Given the description of an element on the screen output the (x, y) to click on. 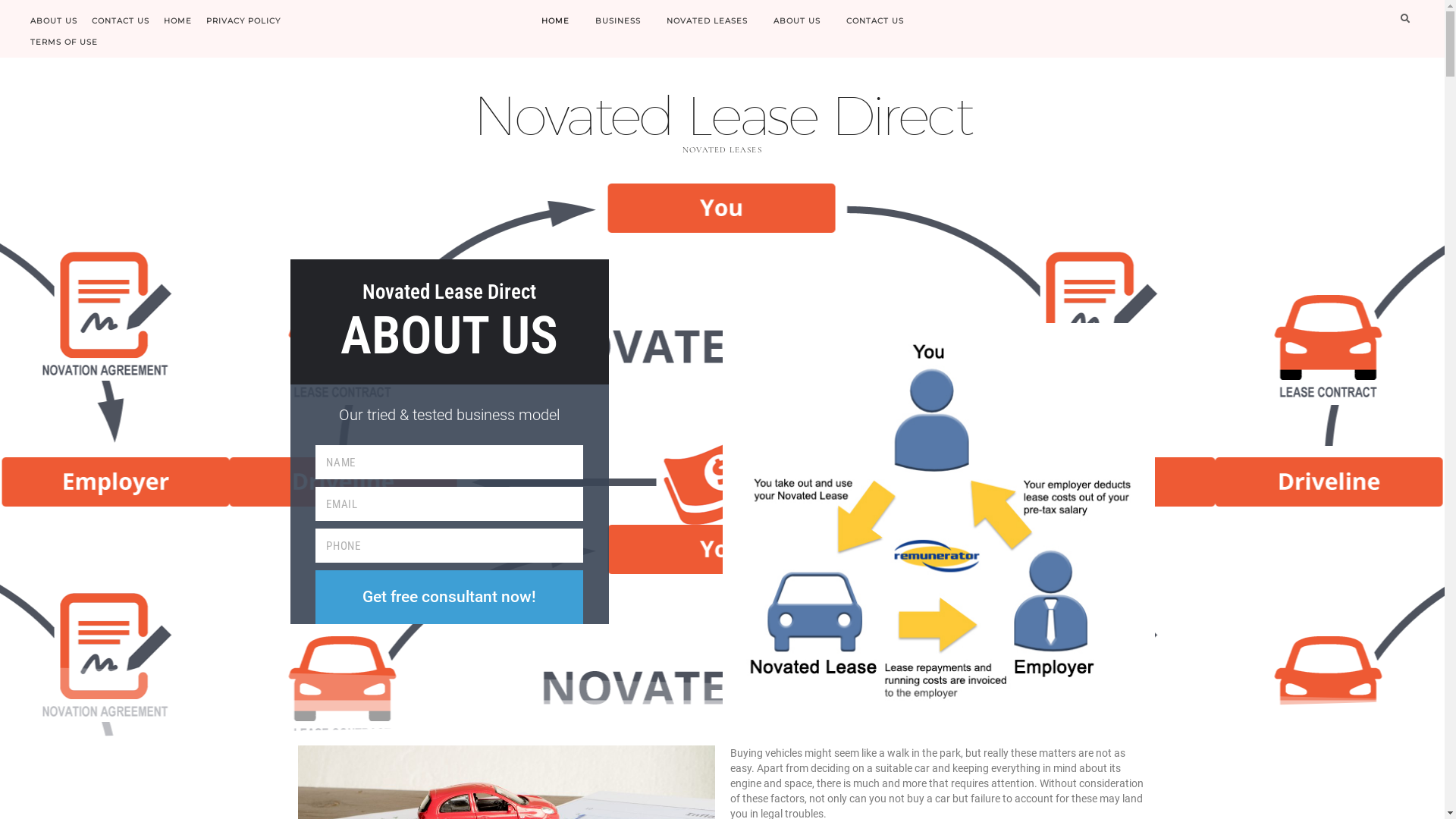
ABOUT US Element type: text (53, 17)
TERMS OF USE Element type: text (63, 39)
NOVATED LEASES Element type: text (707, 20)
CONTACT US Element type: text (874, 20)
PRIVACY POLICY Element type: text (243, 17)
HOME Element type: text (177, 17)
HOME Element type: text (554, 20)
ABOUT US Element type: text (796, 20)
Get free consultant now! Element type: text (449, 597)
Novated Lease Direct Element type: text (722, 114)
BUSINESS Element type: text (617, 20)
CONTACT US Element type: text (120, 17)
